Given the description of an element on the screen output the (x, y) to click on. 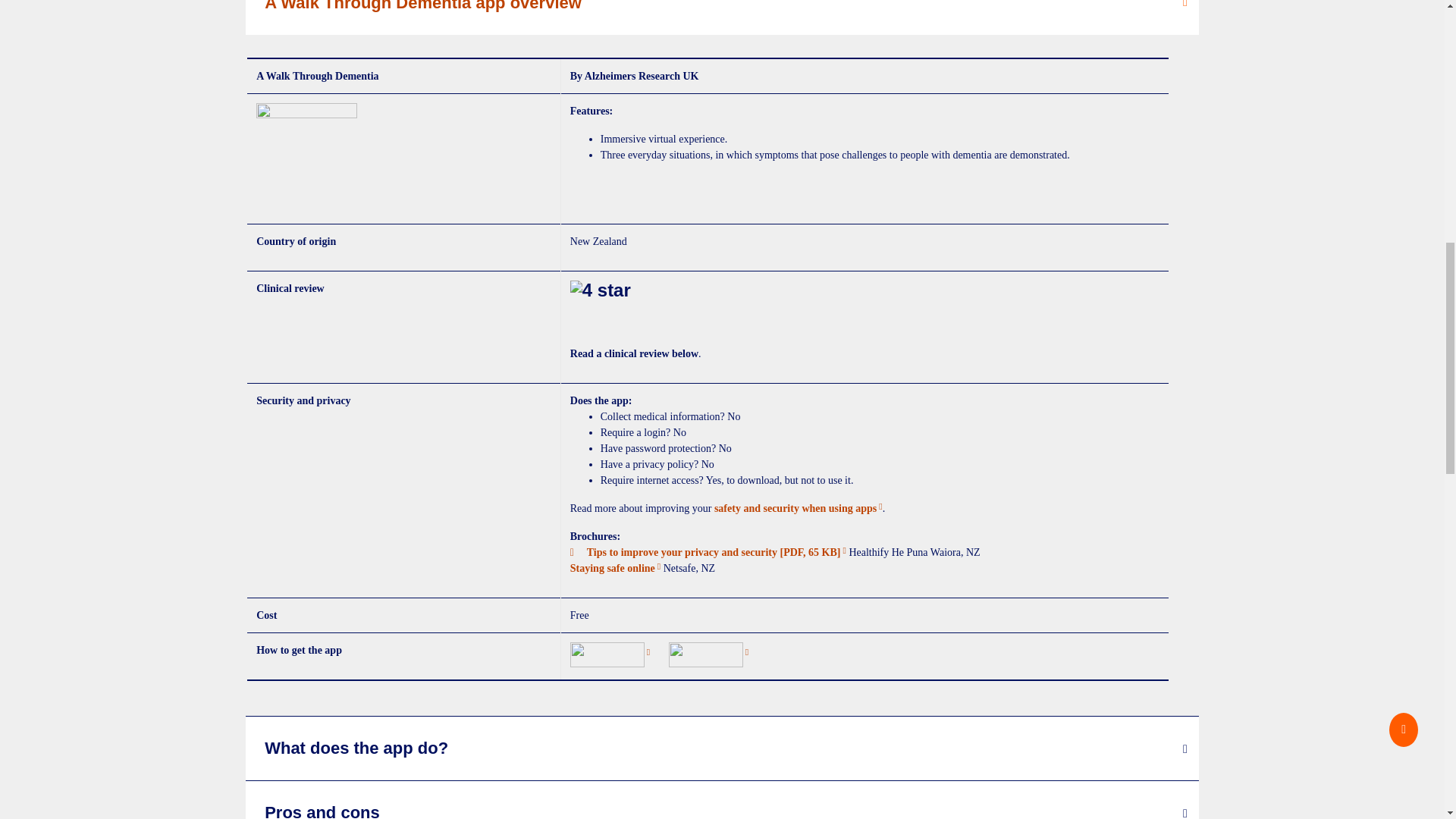
Open external link (615, 568)
Open external link (609, 654)
Open external link (708, 654)
Security and privacy of health apps (798, 508)
